Given the description of an element on the screen output the (x, y) to click on. 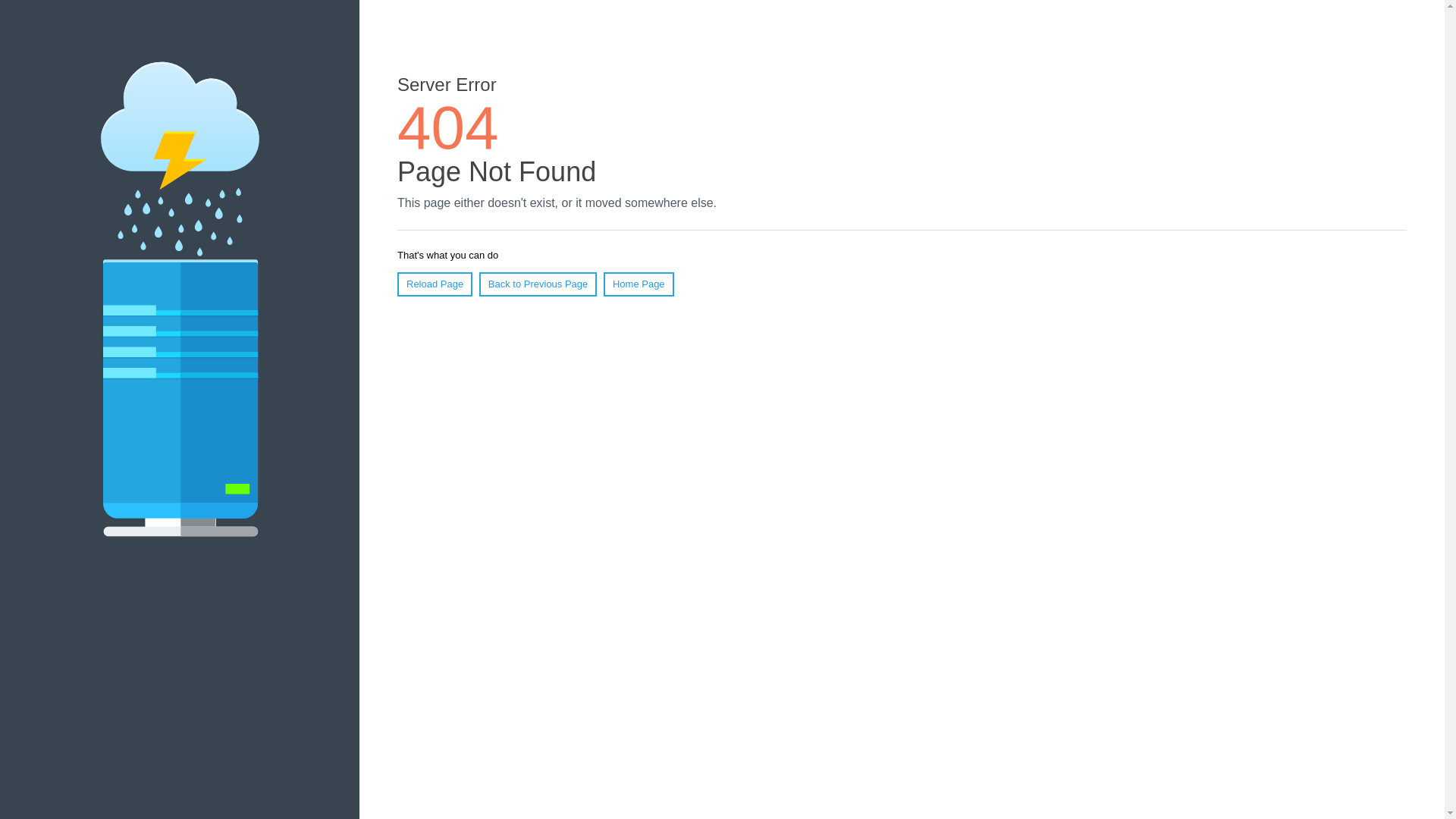
Home Page Element type: text (638, 284)
Reload Page Element type: text (434, 284)
Back to Previous Page Element type: text (538, 284)
